Given the description of an element on the screen output the (x, y) to click on. 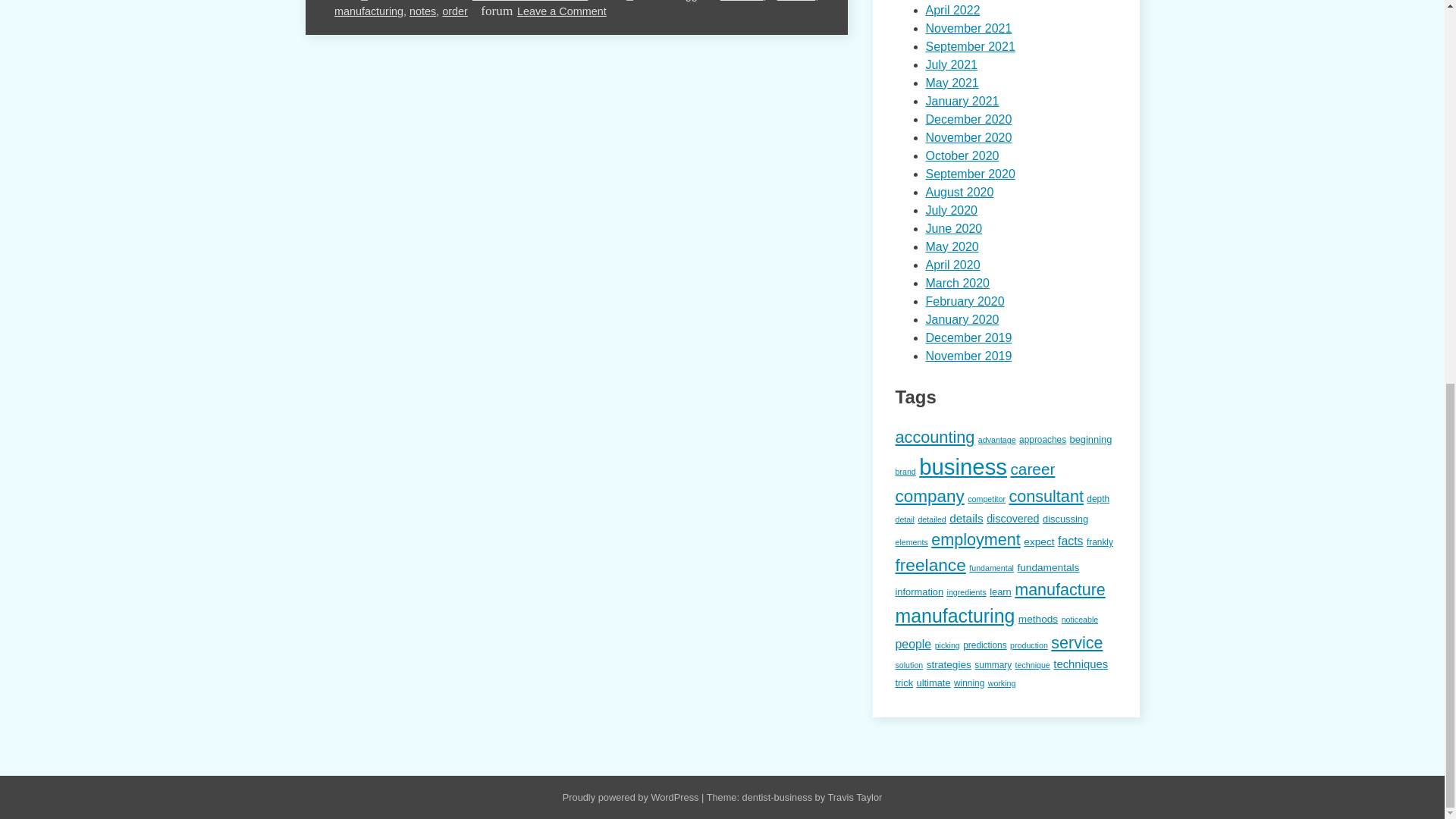
May 2021 (951, 82)
manufacturing (368, 10)
notes (422, 10)
detailed (796, 0)
April 2022 (951, 10)
January 2021 (961, 101)
September 2021 (969, 46)
November 2020 (967, 137)
order (454, 10)
Business Manufacture (529, 0)
